Given the description of an element on the screen output the (x, y) to click on. 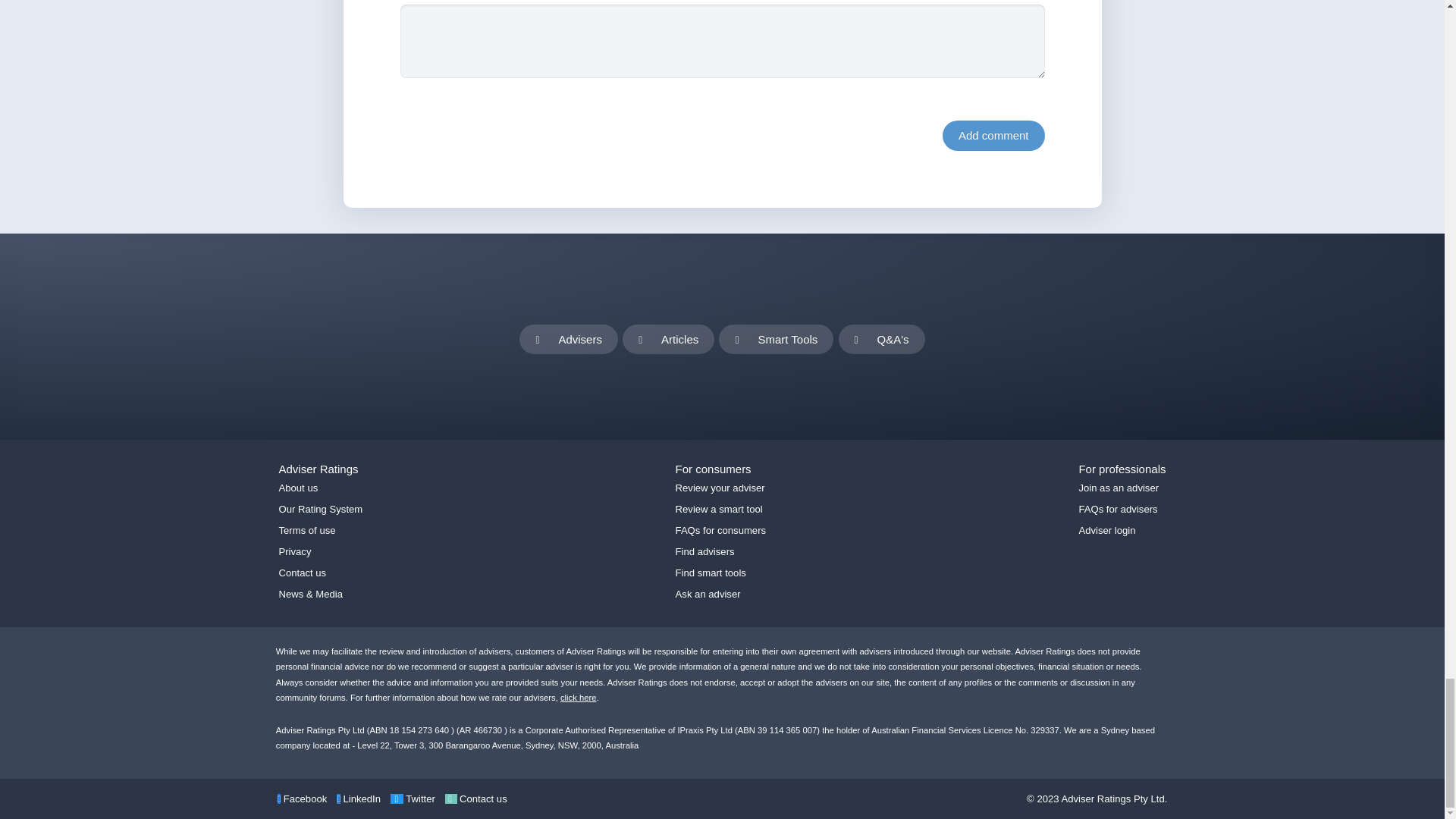
Smart Tools (775, 339)
Our Rating System (320, 509)
Privacy (295, 551)
About us (298, 487)
Advisers (568, 339)
Terms of use (307, 530)
Add comment (993, 135)
The Rating System (578, 696)
Contact us (302, 572)
Articles (668, 339)
